Given the description of an element on the screen output the (x, y) to click on. 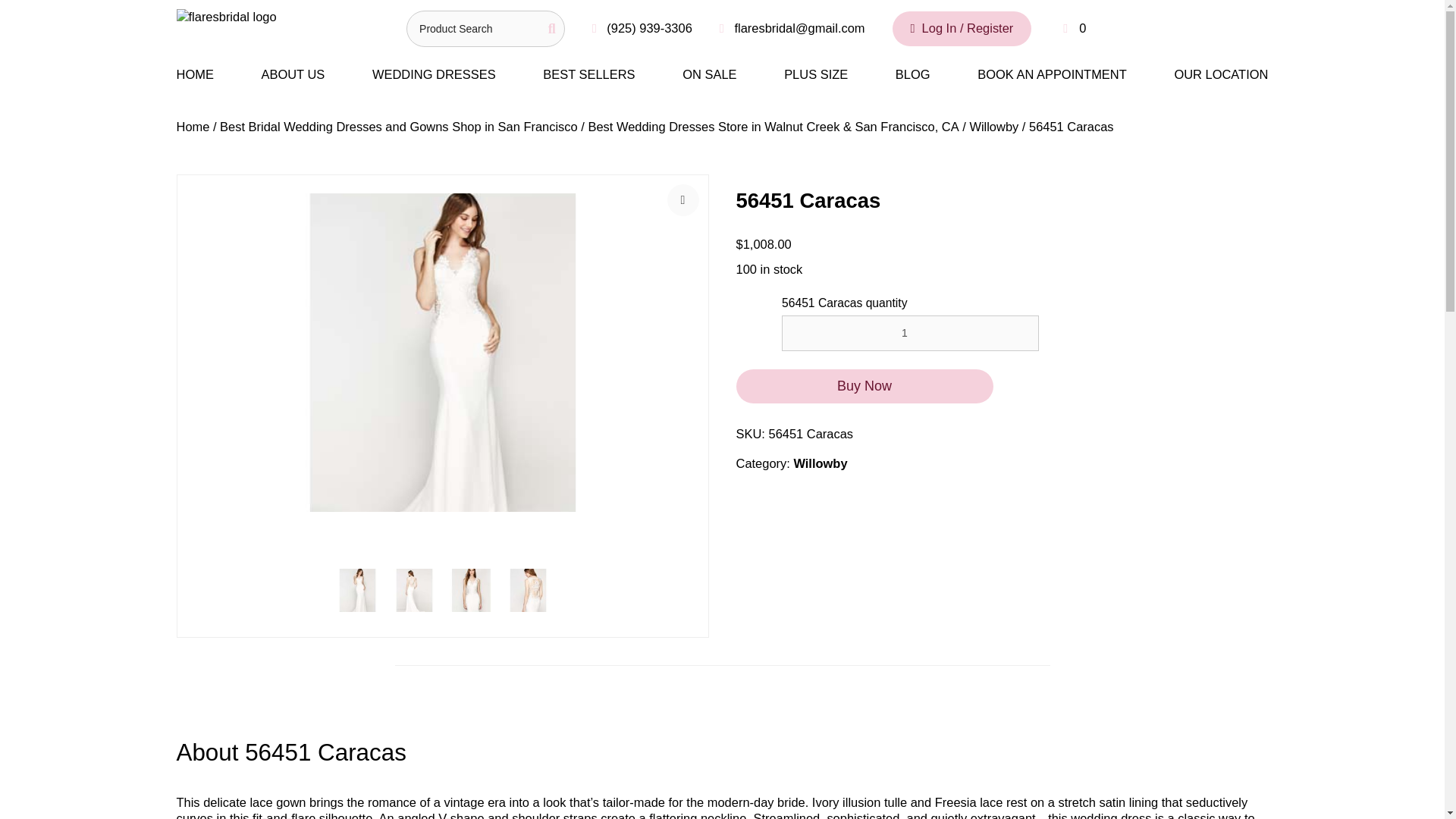
HOME (203, 74)
company logo (226, 28)
Best Bridal Wedding Dresses and Gowns Shop in San Francisco (398, 126)
PLUS SIZE (815, 74)
Willowby (993, 126)
BEST SELLERS (588, 74)
Willowby (820, 463)
BOOK AN APPOINTMENT (1051, 74)
Home (192, 126)
Willowby 56451 (442, 352)
